Given the description of an element on the screen output the (x, y) to click on. 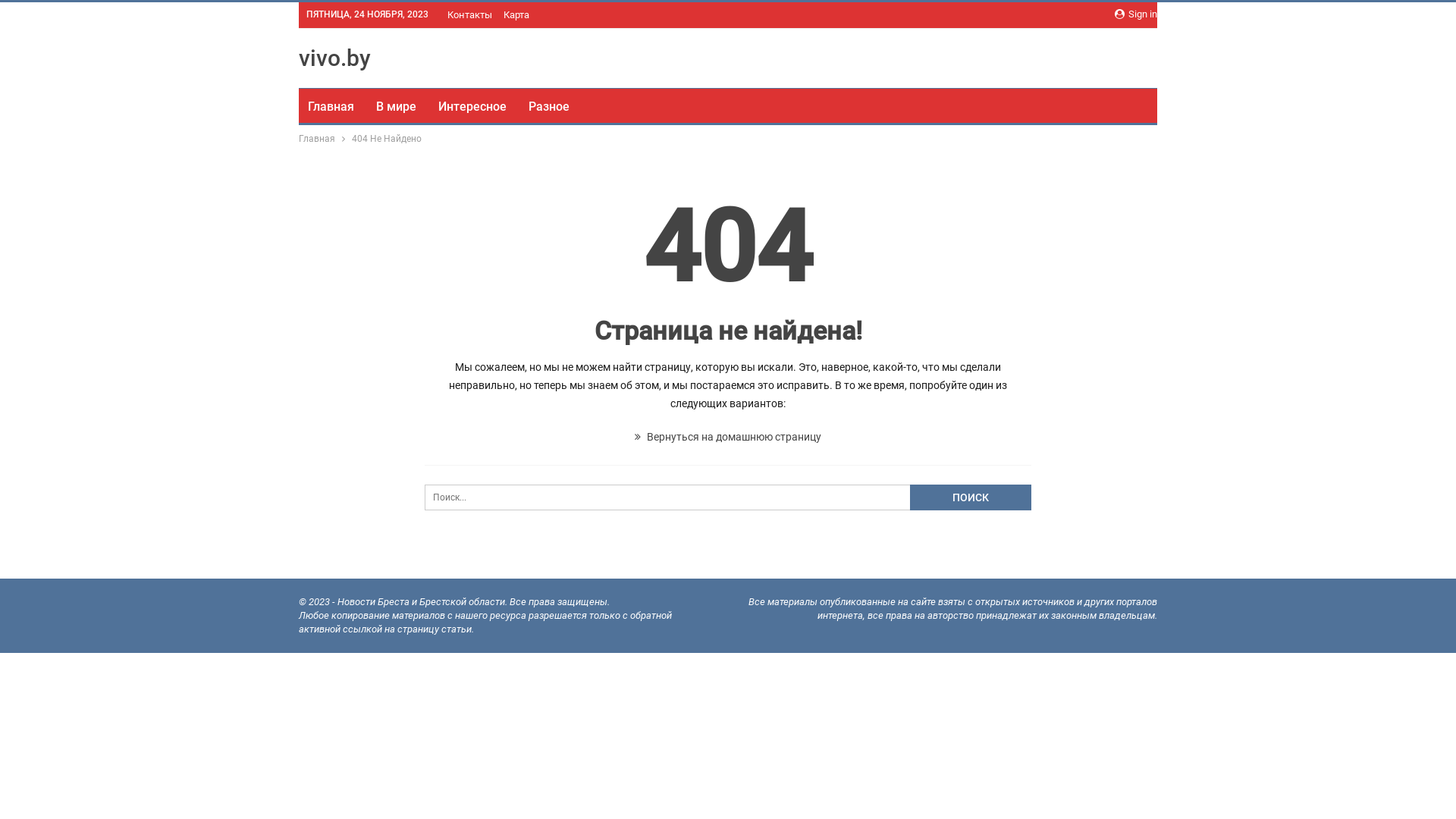
Sign in Element type: text (1135, 14)
vivo.by Element type: text (334, 57)
